Given the description of an element on the screen output the (x, y) to click on. 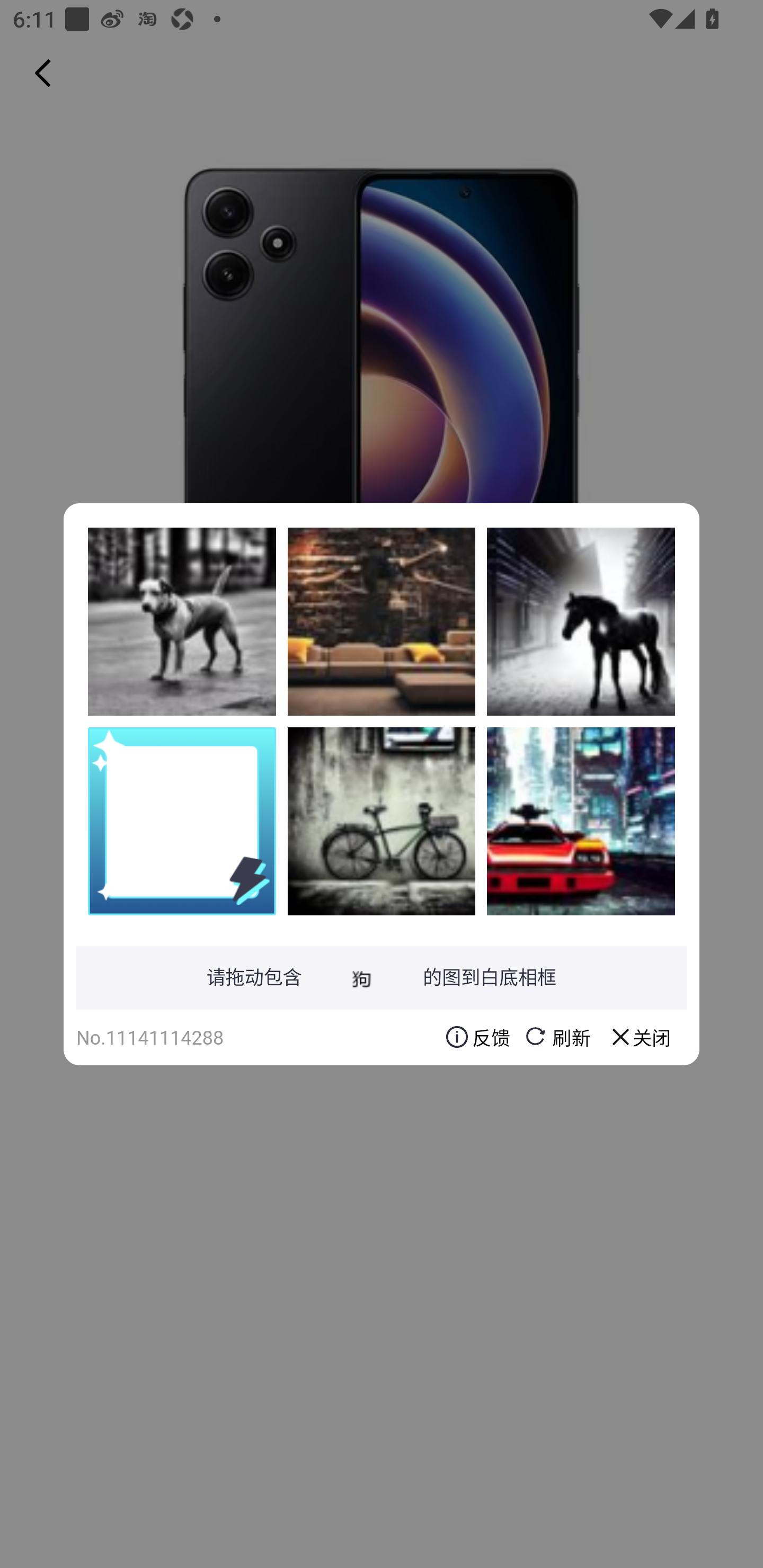
BSEUA5ZSYRW4ja2QMpSEPSom2oyxL21lScu (381, 621)
DTAfRLl3j55fOce7dowNLAFtvXR7d (580, 621)
4hRjN25m2vrNlL55xzDJykG9+pBfWE (580, 820)
